Given the description of an element on the screen output the (x, y) to click on. 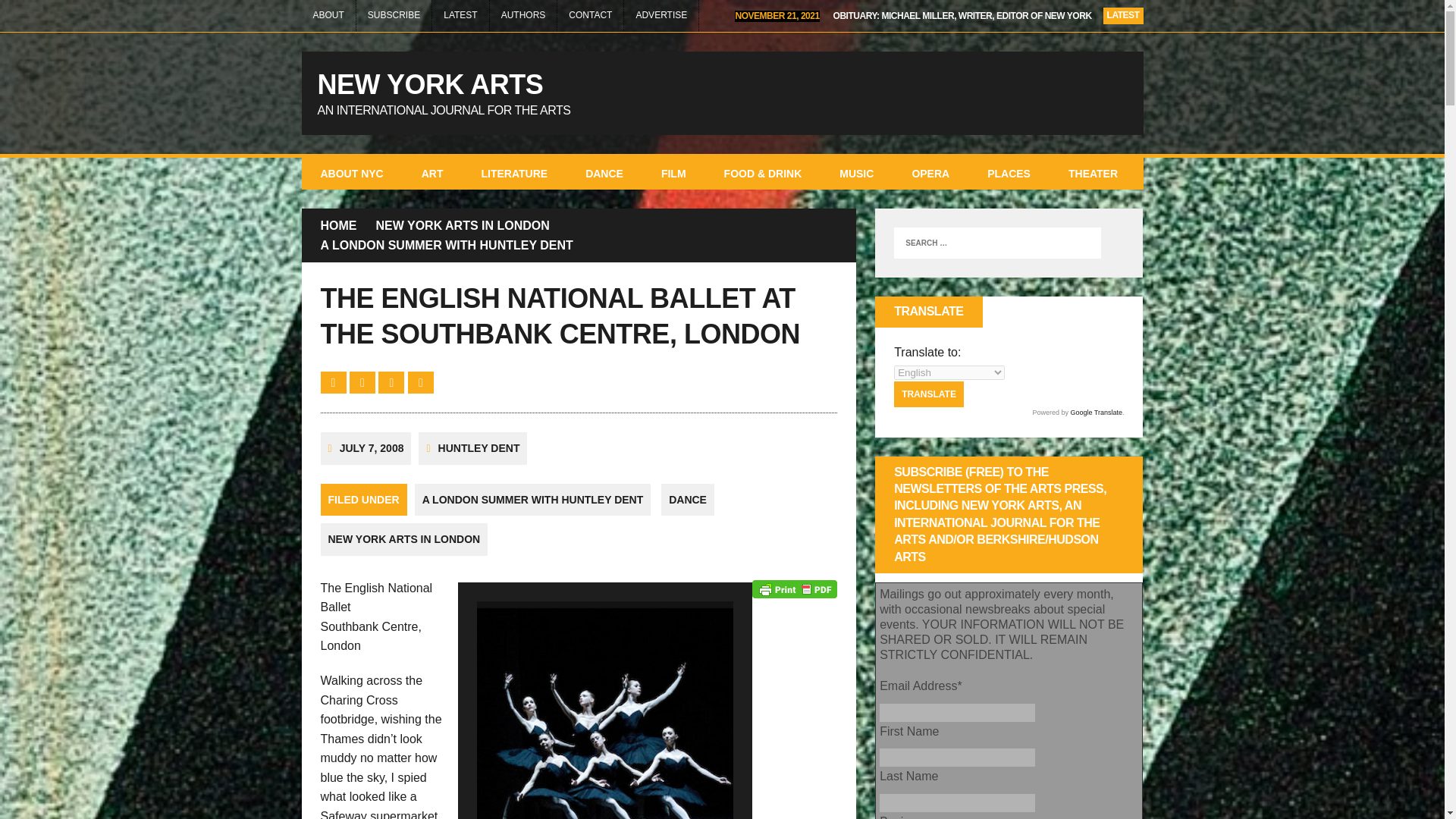
Translate (928, 394)
LITERATURE (515, 173)
PLACES (1008, 173)
ART (433, 173)
THEATER (1093, 173)
MUSIC (856, 173)
The English National Ballet, photo Patrick Baldwin (605, 710)
ADVERTISE (661, 15)
FILM (673, 173)
